Given the description of an element on the screen output the (x, y) to click on. 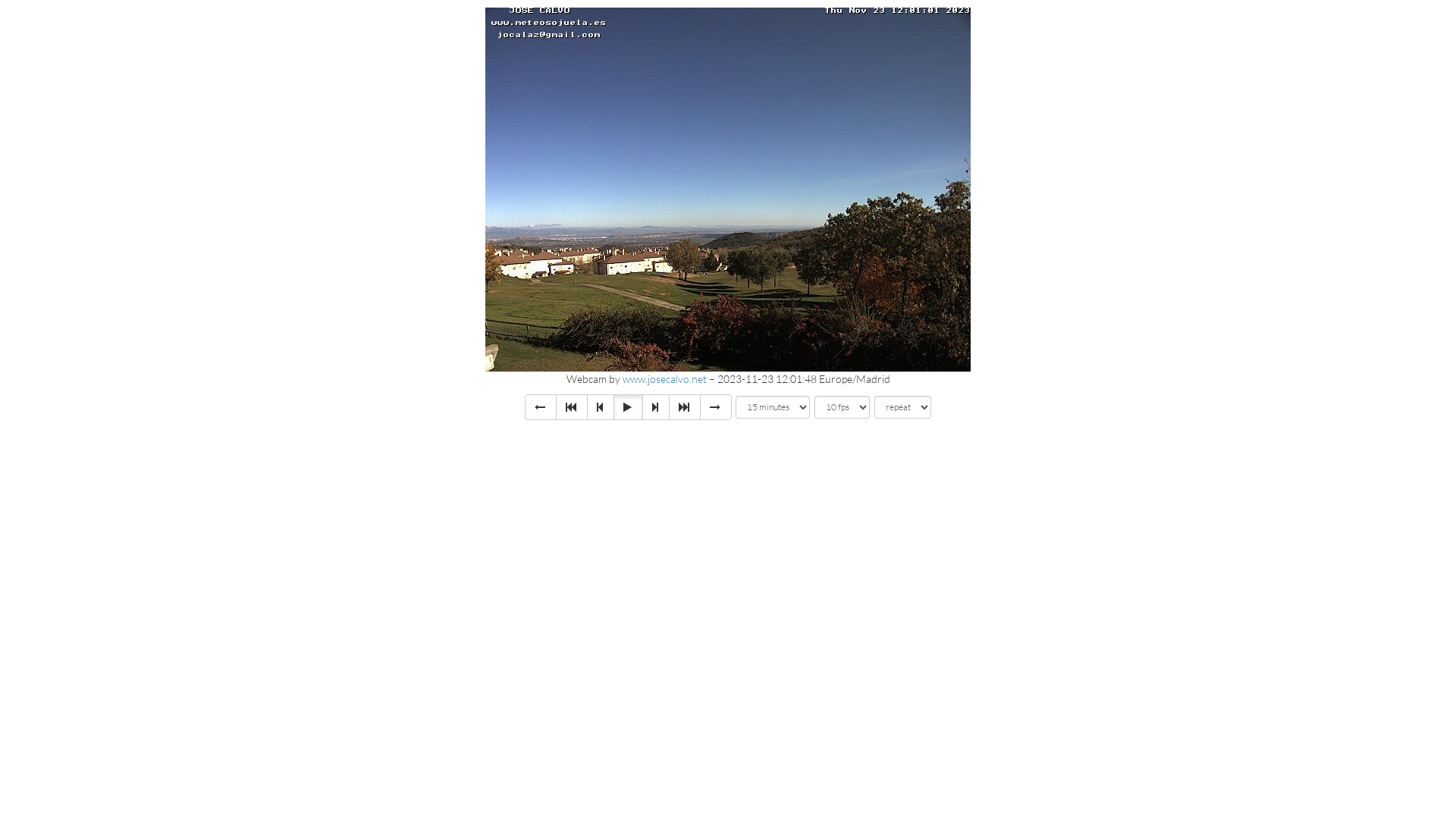
SOJUELA webcam Element type: hover (727, 189)
pause/play Element type: hover (628, 407)
www.josecalvo.net Element type: text (663, 378)
next day Element type: hover (715, 407)
previous day Element type: hover (540, 407)
step -1 Element type: hover (600, 407)
step +60 Element type: hover (684, 407)
step -60 Element type: hover (571, 407)
step +1 Element type: hover (655, 407)
